Given the description of an element on the screen output the (x, y) to click on. 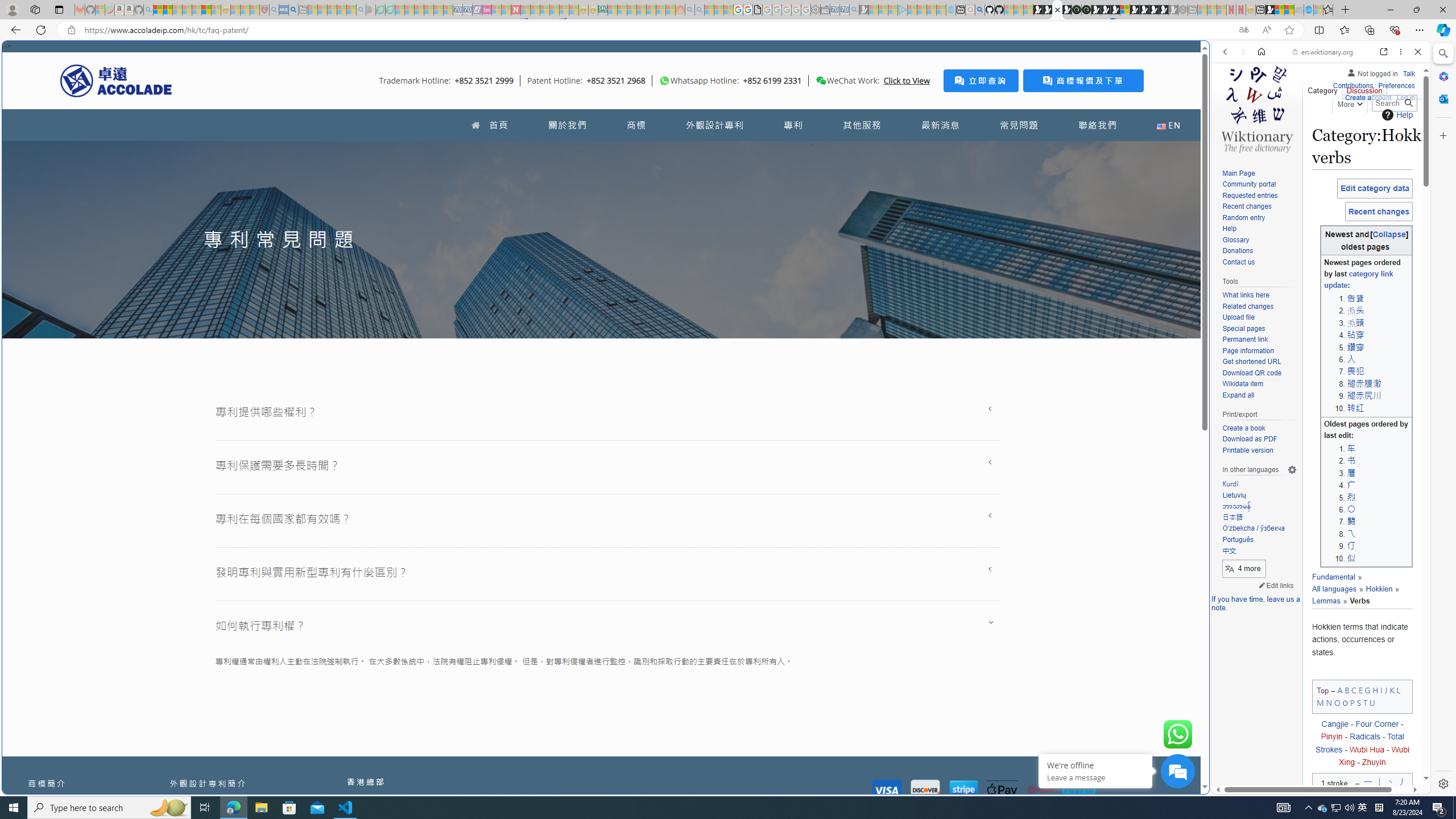
Wikidata item (1259, 383)
Top (1322, 690)
J (1385, 689)
Edit links (1276, 585)
